Given the description of an element on the screen output the (x, y) to click on. 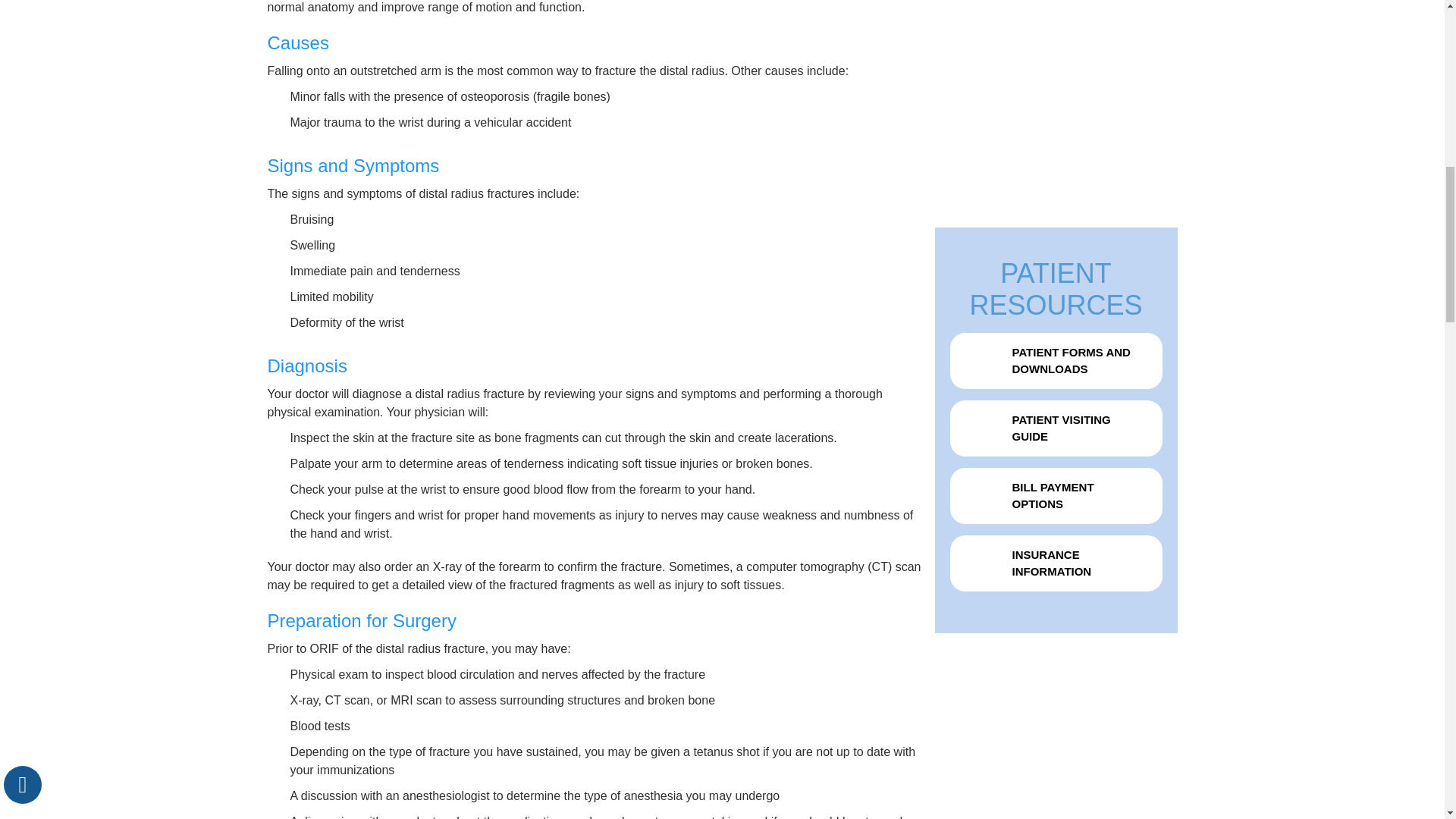
Previous Slide (1038, 159)
Next Slide (1061, 159)
